Given the description of an element on the screen output the (x, y) to click on. 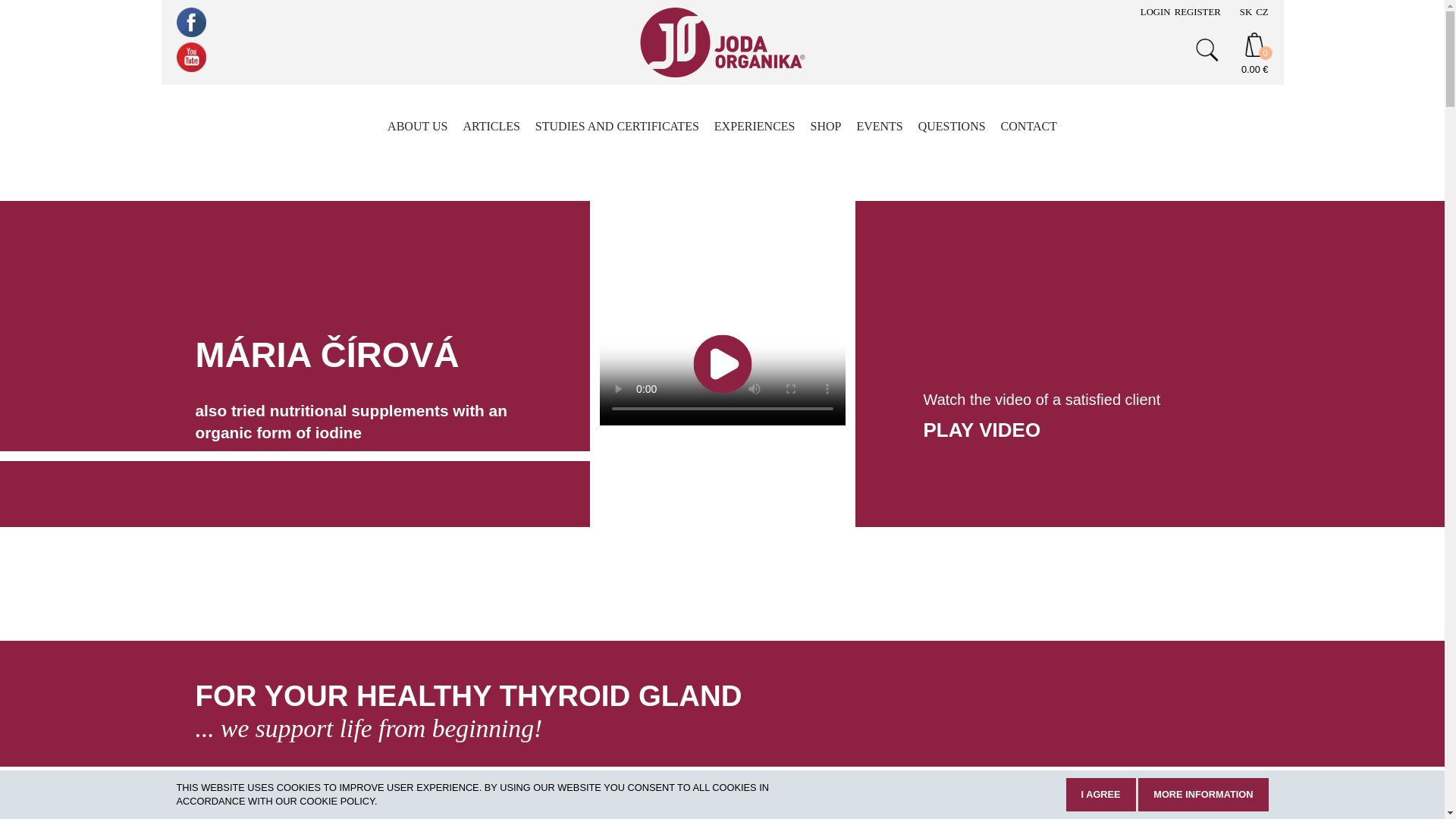
SK (1246, 11)
fb (190, 21)
LOGIN (1155, 11)
ABOUT US (416, 126)
CZ (1261, 11)
SHOP (825, 126)
PLAY VIDEO (982, 429)
ARTICLES (491, 126)
EVENTS (879, 126)
yt (190, 57)
CONTACT (1029, 126)
REGISTER (1197, 11)
QUESTIONS (951, 126)
EXPERIENCES (754, 126)
STUDIES AND CERTIFICATES (616, 126)
